Given the description of an element on the screen output the (x, y) to click on. 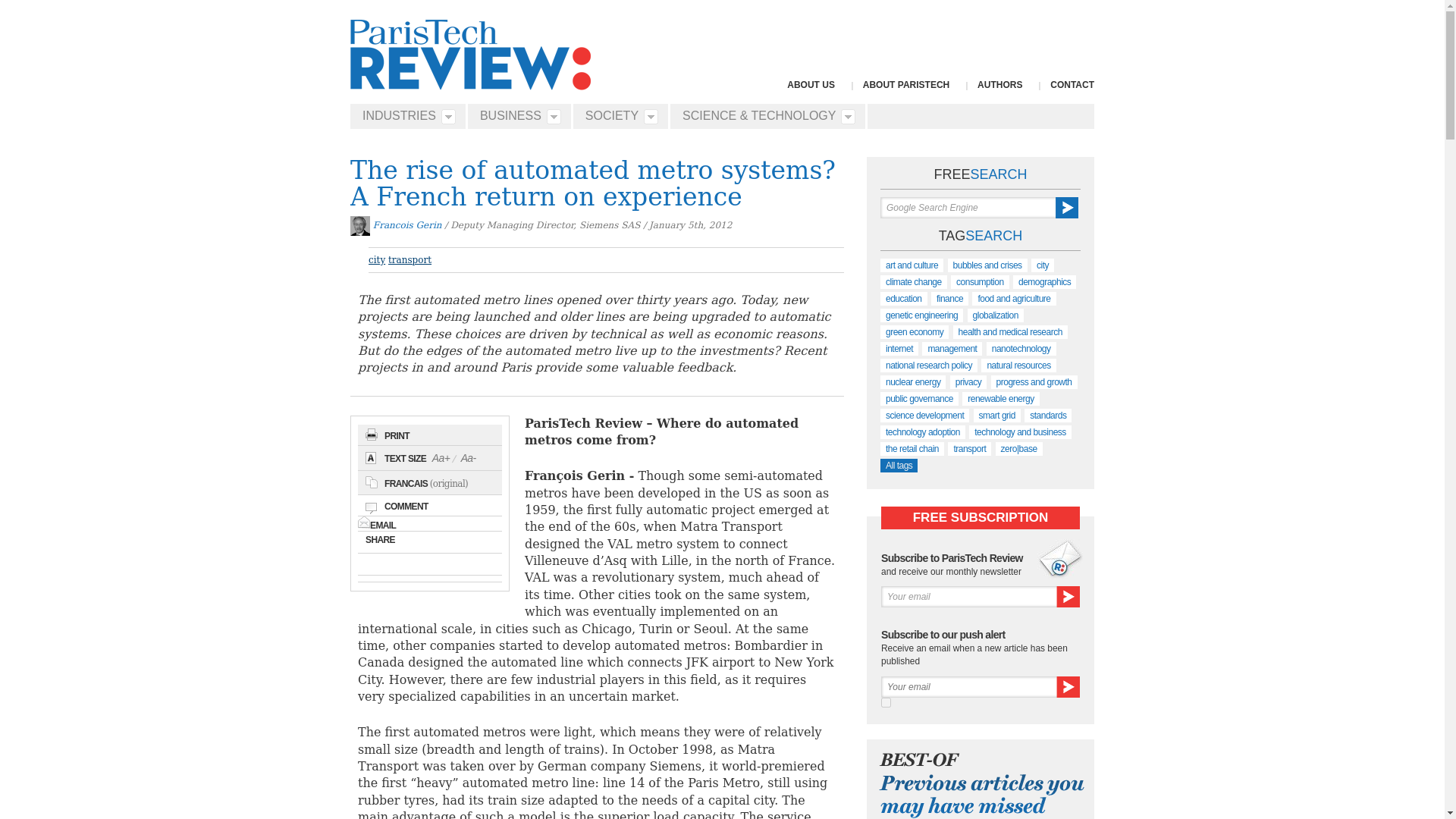
AUTHORS (999, 84)
CONTACT (1071, 84)
Send (1068, 596)
BUSINESS (515, 116)
INDUSTRIES (404, 116)
ABOUT US (810, 84)
ABOUT PARISTECH (906, 84)
Search (1066, 207)
Google Search Engine (967, 207)
SendPush (1068, 686)
fr (885, 702)
Your email (968, 596)
SOCIETY (617, 116)
